Given the description of an element on the screen output the (x, y) to click on. 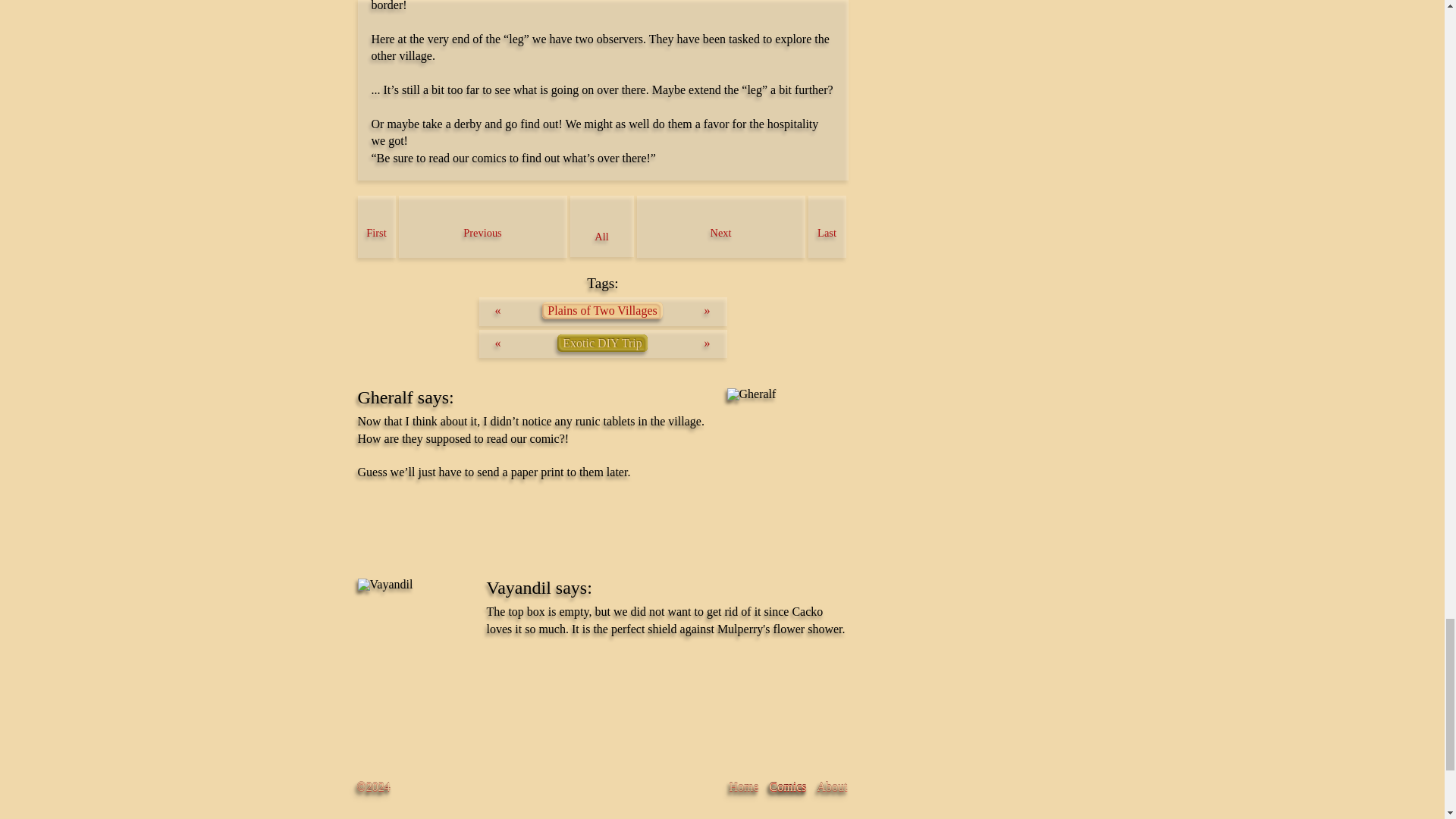
All (601, 226)
Comics (788, 786)
Plains of Two Villages (601, 310)
Next (721, 226)
Home (743, 786)
Previous comic (482, 226)
Next comic (721, 226)
Previous (482, 226)
All comics (601, 226)
Exotic DIY Trip (601, 343)
